Given the description of an element on the screen output the (x, y) to click on. 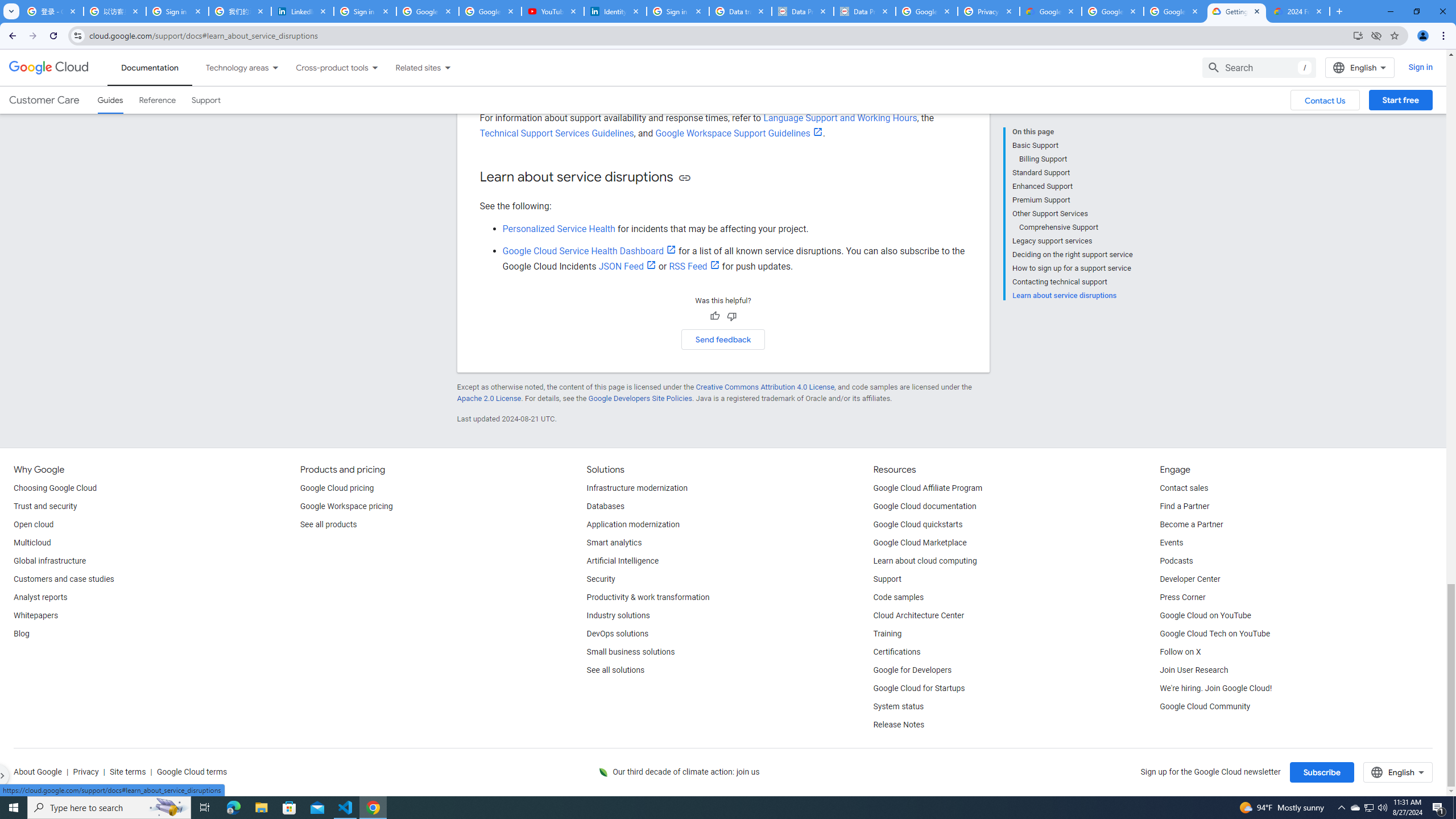
Contact sales (1183, 488)
Analyst reports (39, 597)
Blog (21, 633)
Guides, selected (109, 99)
Learn about service disruptions (1071, 294)
Install Google Cloud (1358, 35)
System status (898, 706)
Technical Support Services Guidelines (556, 132)
Sign in - Google Accounts (678, 11)
Not helpful (731, 316)
Standard Support (1071, 172)
Copy link to this section: Learn about service disruptions (683, 177)
